Given the description of an element on the screen output the (x, y) to click on. 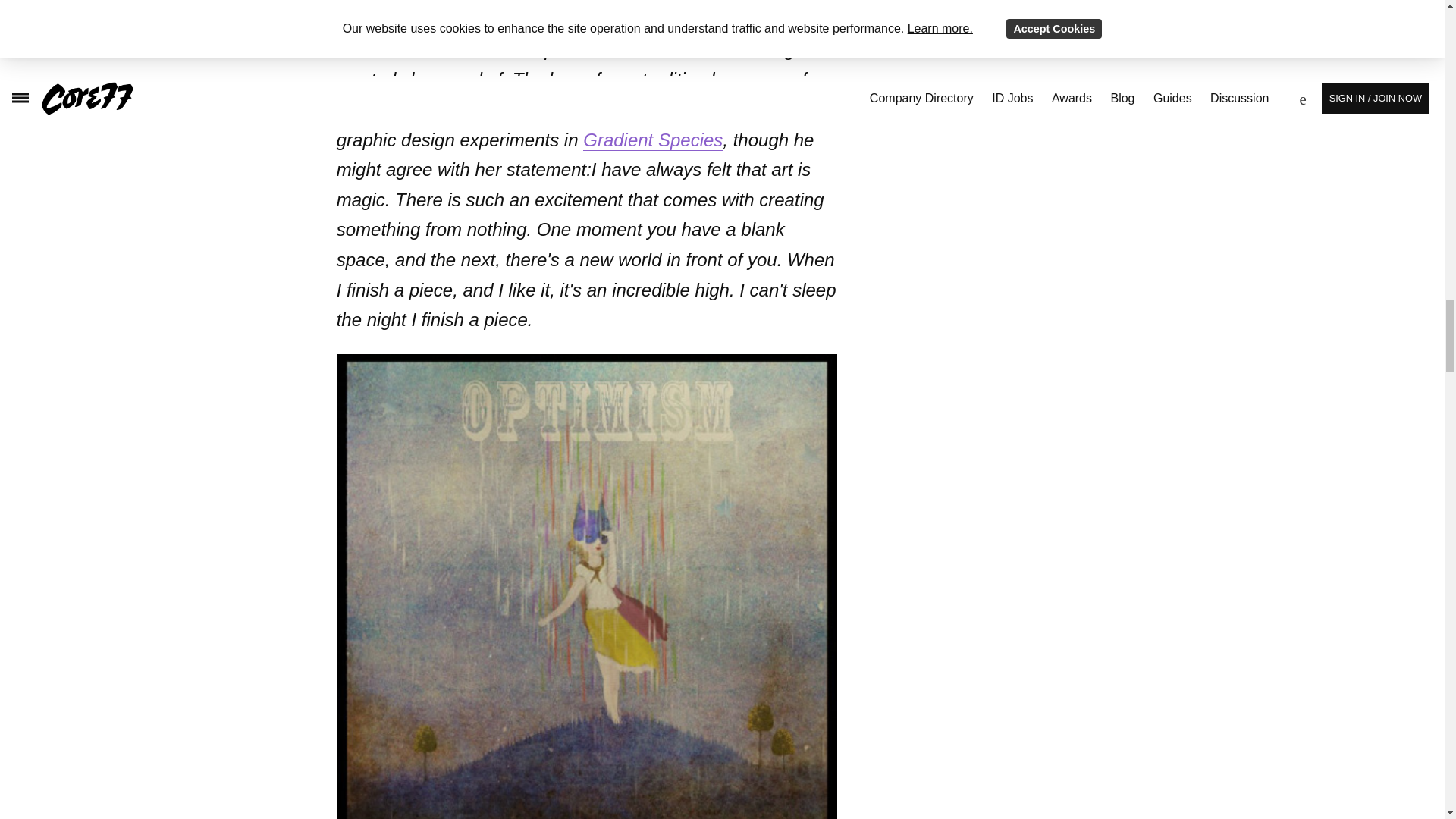
Gradient Species (652, 139)
